Given the description of an element on the screen output the (x, y) to click on. 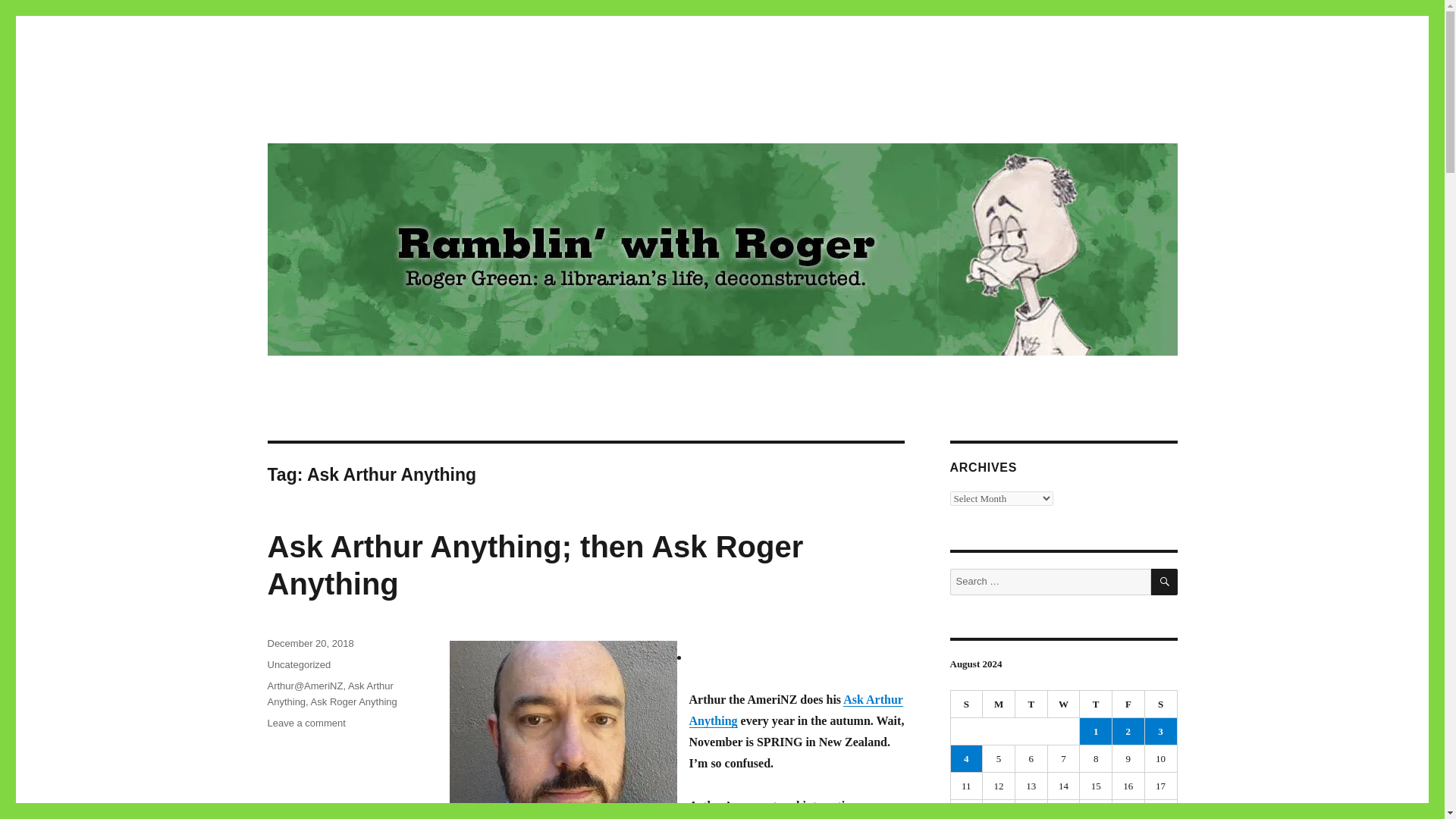
Ask Arthur Anything (795, 709)
Sunday (967, 704)
SEARCH (1164, 581)
Uncategorized (298, 664)
Friday (1128, 704)
Ask Roger Anything (354, 701)
Ramblin' with Roger (368, 114)
1 (1096, 731)
4 (966, 758)
